Given the description of an element on the screen output the (x, y) to click on. 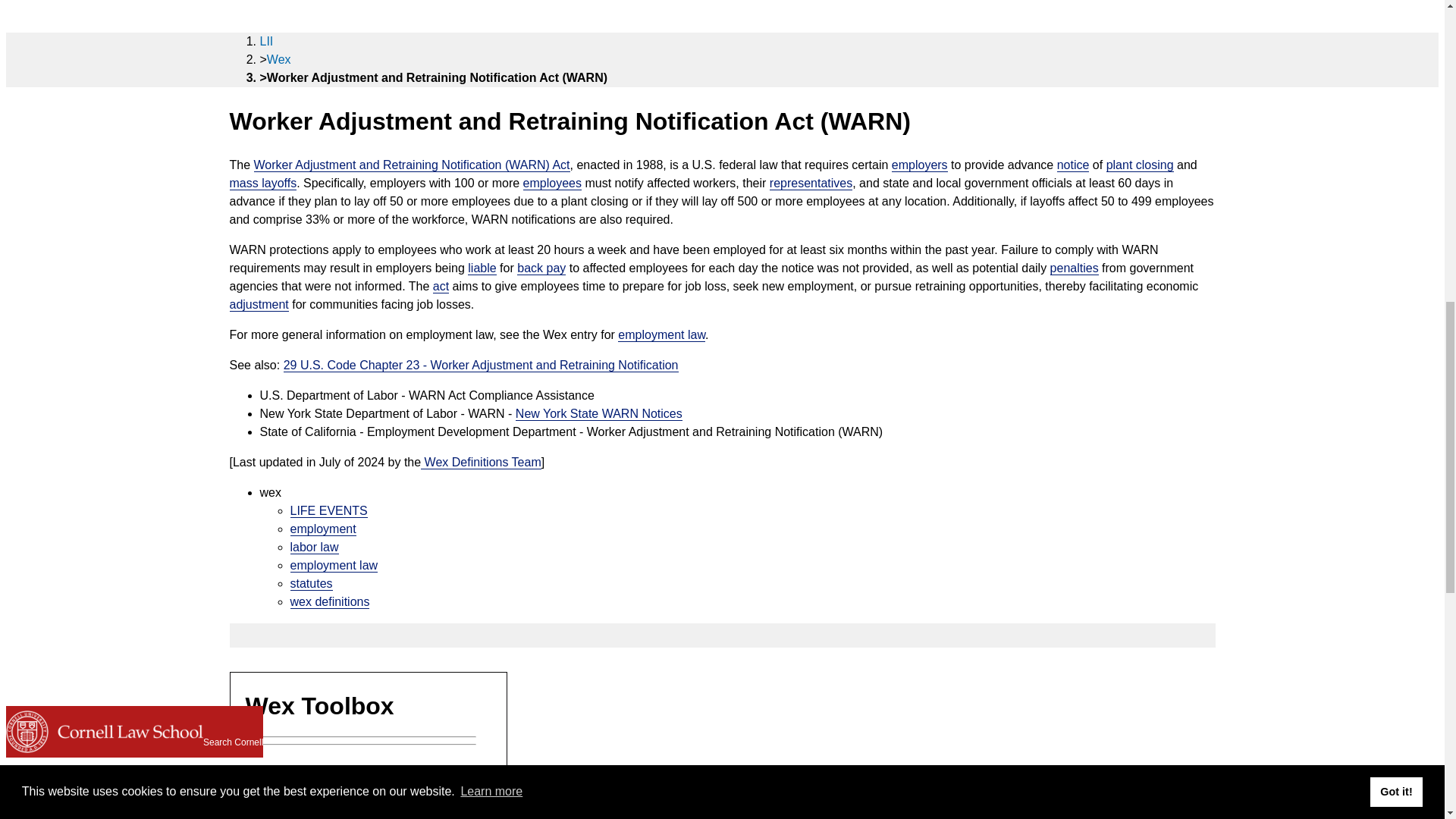
About LII (37, 20)
Legal encyclopedia (48, 131)
3rd party ad content (368, 796)
Get the law (45, 45)
Lawyer directory (32, 82)
